Given the description of an element on the screen output the (x, y) to click on. 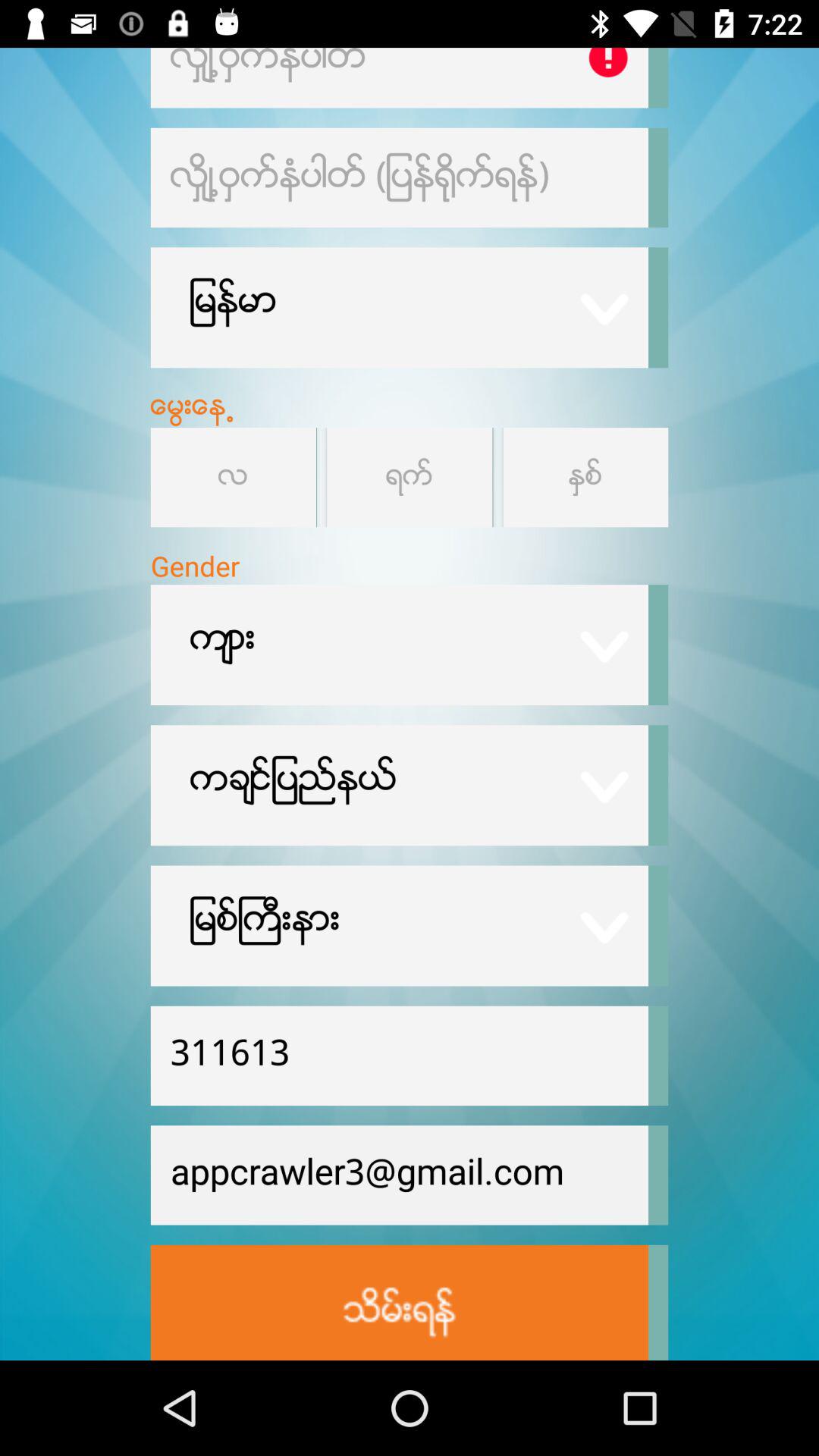
entry field (399, 77)
